Given the description of an element on the screen output the (x, y) to click on. 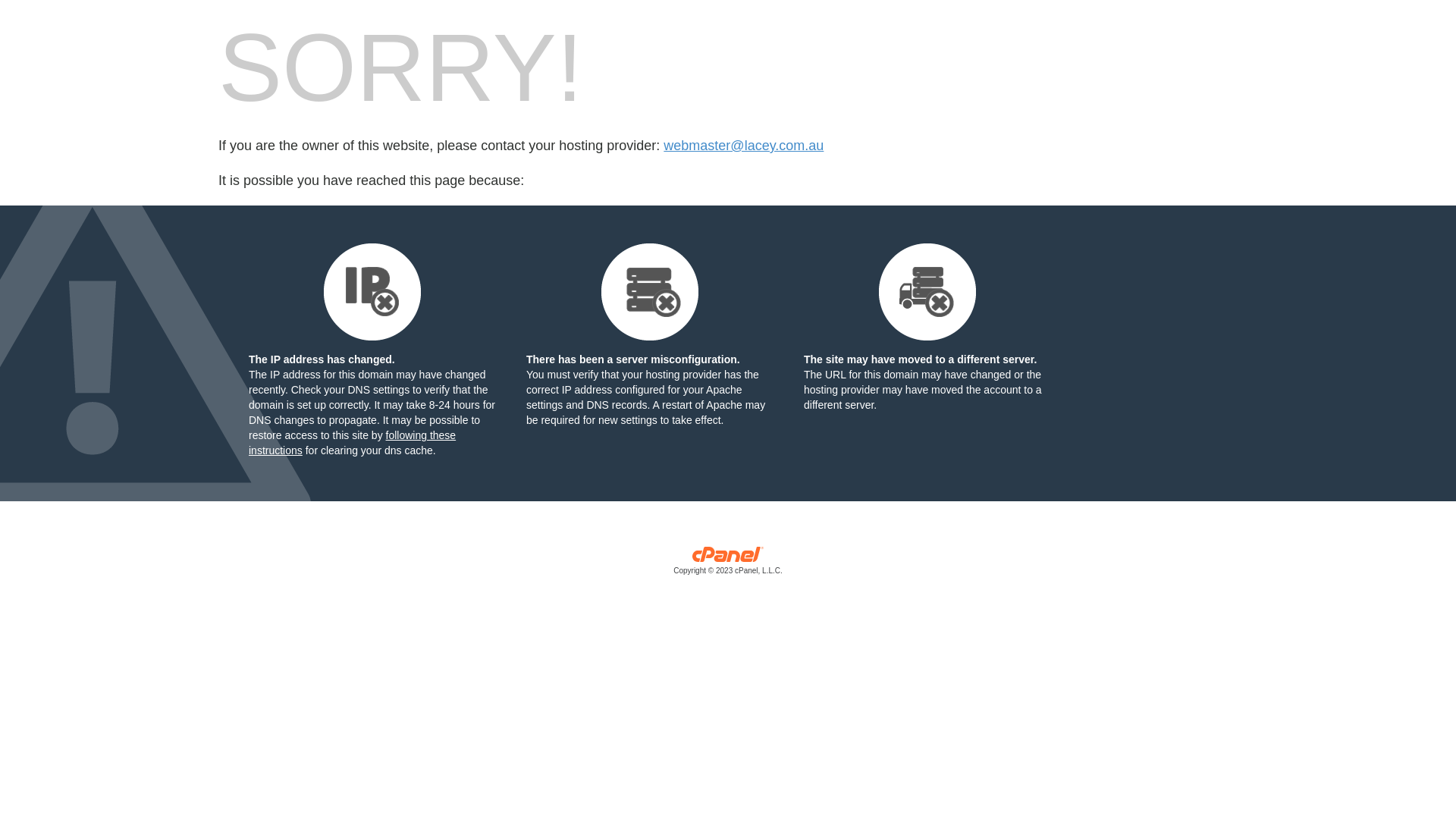
following these instructions Element type: text (351, 442)
webmaster@lacey.com.au Element type: text (743, 145)
